Given the description of an element on the screen output the (x, y) to click on. 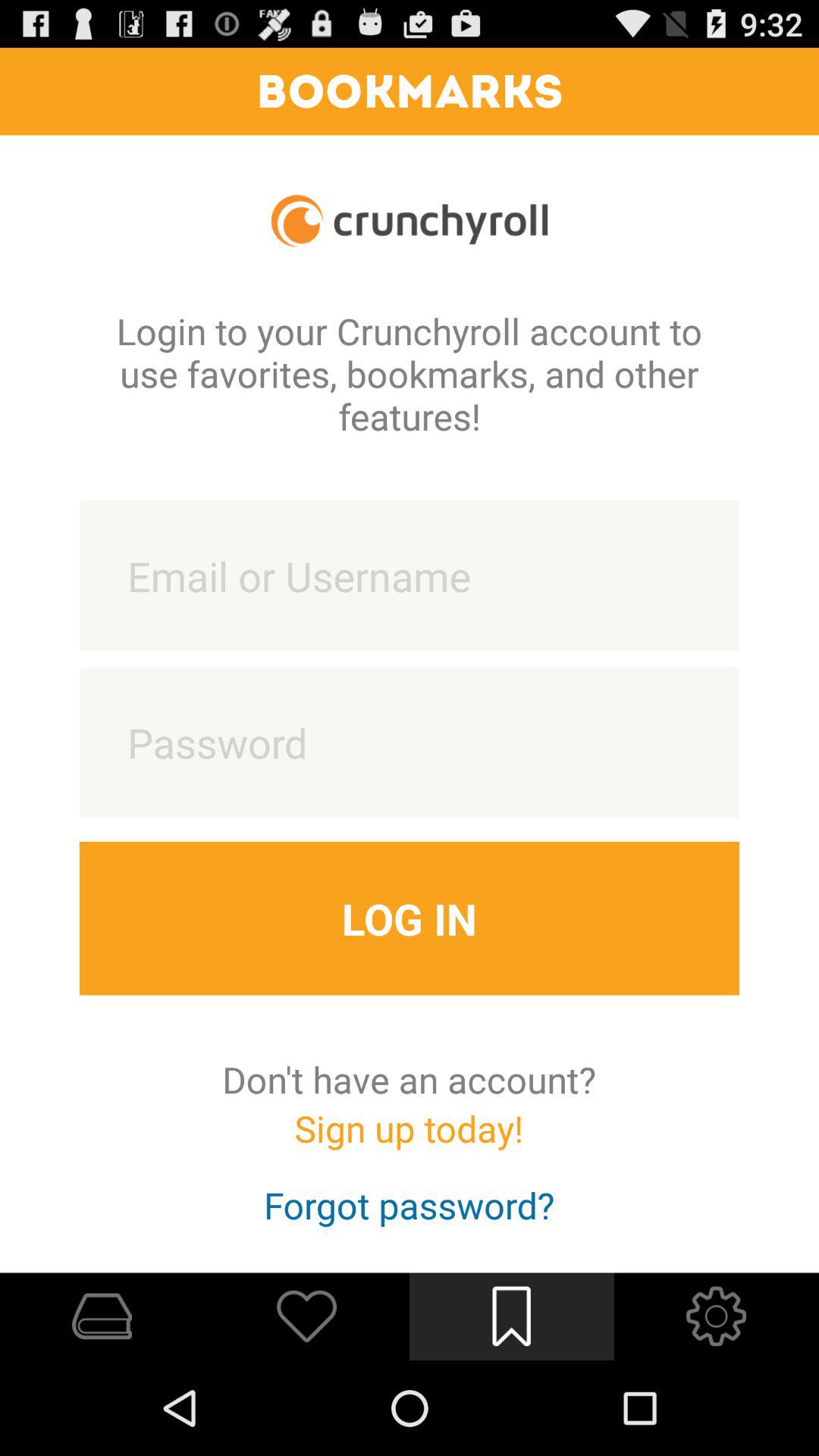
login username or password (409, 575)
